Given the description of an element on the screen output the (x, y) to click on. 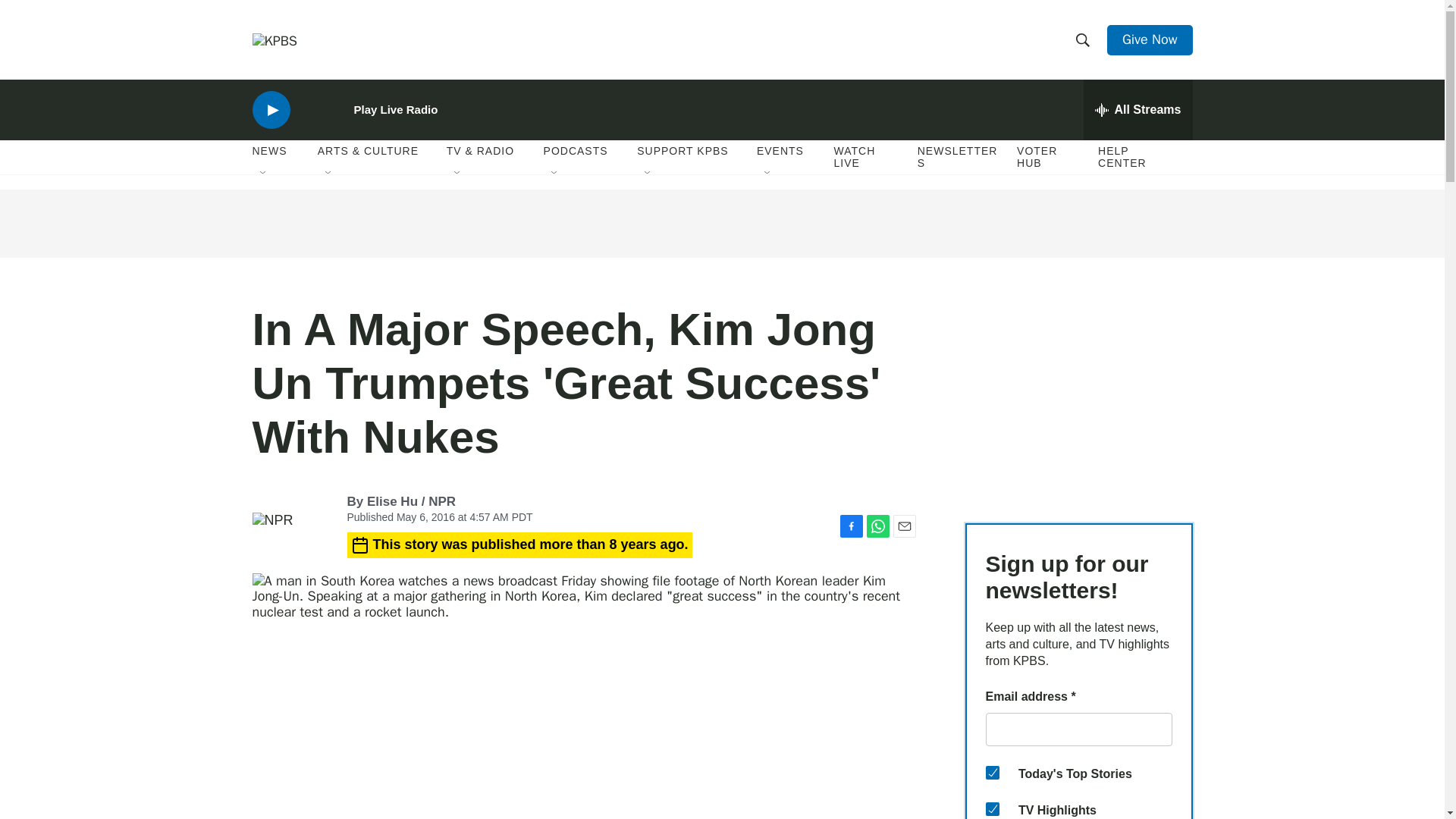
4 (991, 772)
5 (991, 808)
